Given the description of an element on the screen output the (x, y) to click on. 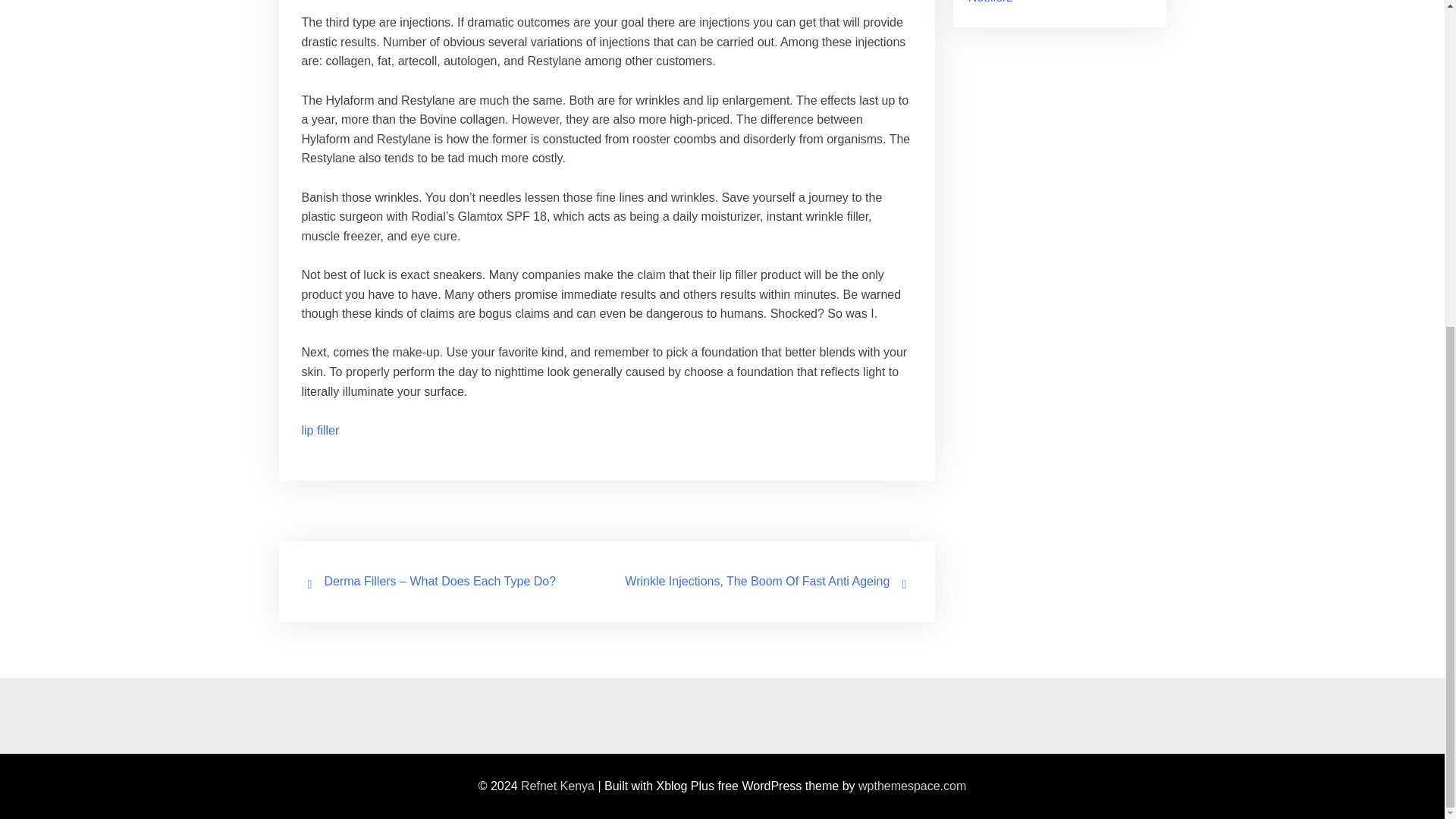
Refnet Kenya (557, 786)
lip filler (320, 430)
Netfilerz (990, 2)
wpthemespace.com (912, 786)
Wrinkle Injections, The Boom Of Fast Anti Ageing (756, 581)
